Given the description of an element on the screen output the (x, y) to click on. 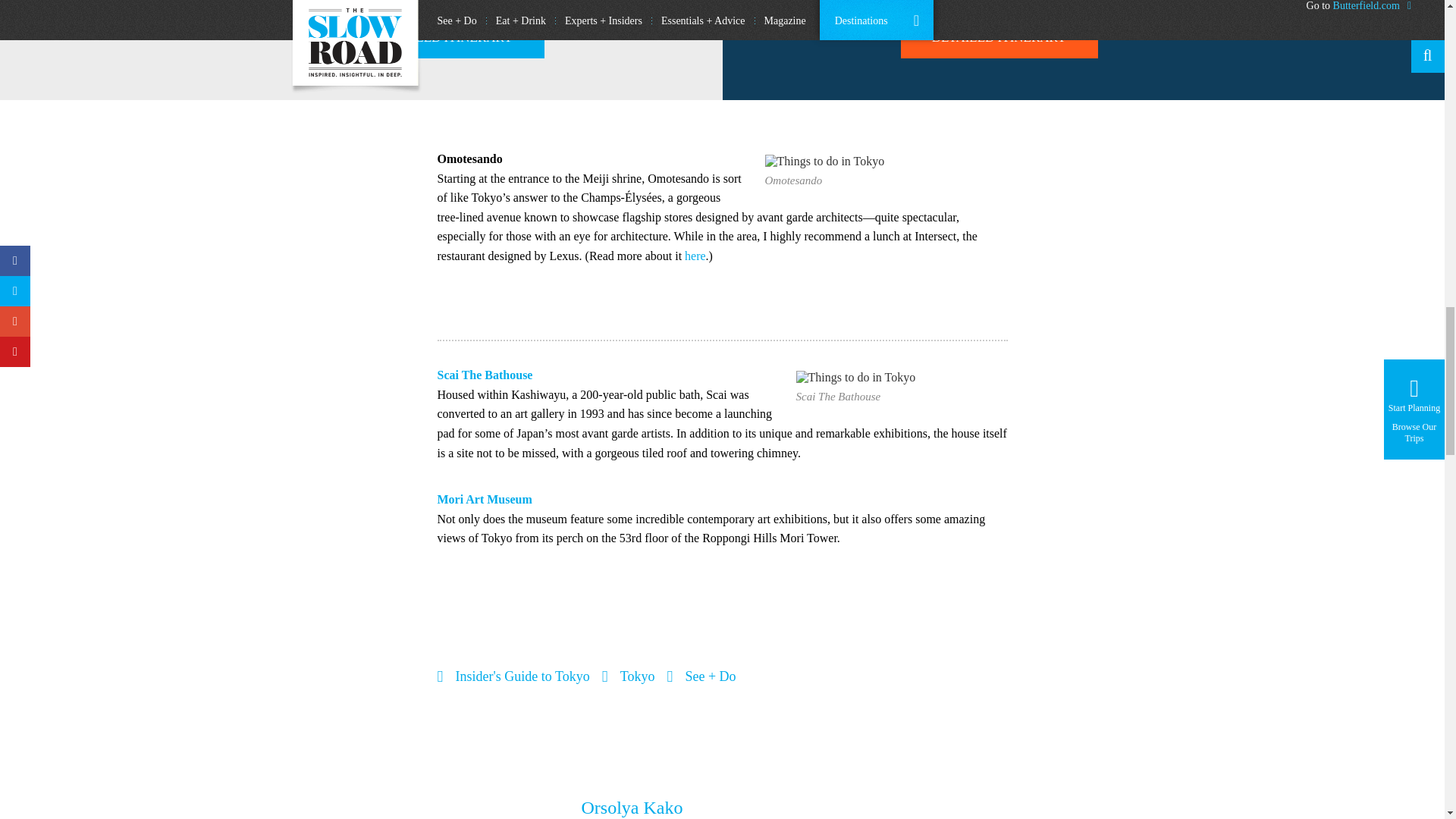
Mori Art Museum  (483, 499)
Tokyo Restaurants  (695, 255)
Scai The Bathouse  (484, 374)
